Given the description of an element on the screen output the (x, y) to click on. 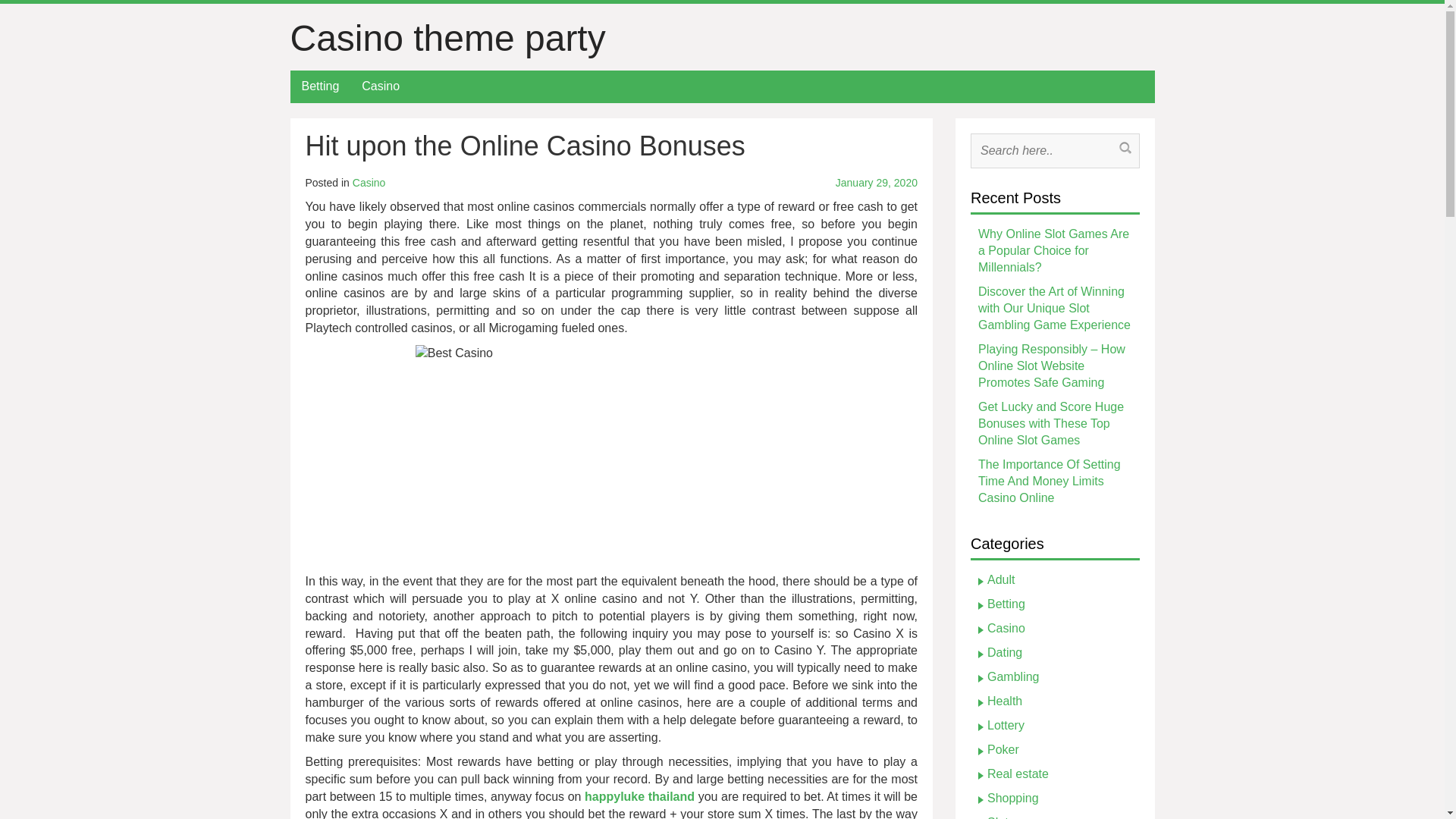
Poker (1003, 748)
Slot (998, 817)
Casino (1006, 627)
Betting (319, 86)
January 29, 2020 (823, 183)
Casino theme party (447, 38)
Health (1004, 700)
Gambling (1013, 676)
happyluke thailand (639, 796)
Shopping (1013, 797)
Casino (380, 86)
Search here.. (1046, 150)
Dating (1004, 652)
Real estate (1017, 773)
